Given the description of an element on the screen output the (x, y) to click on. 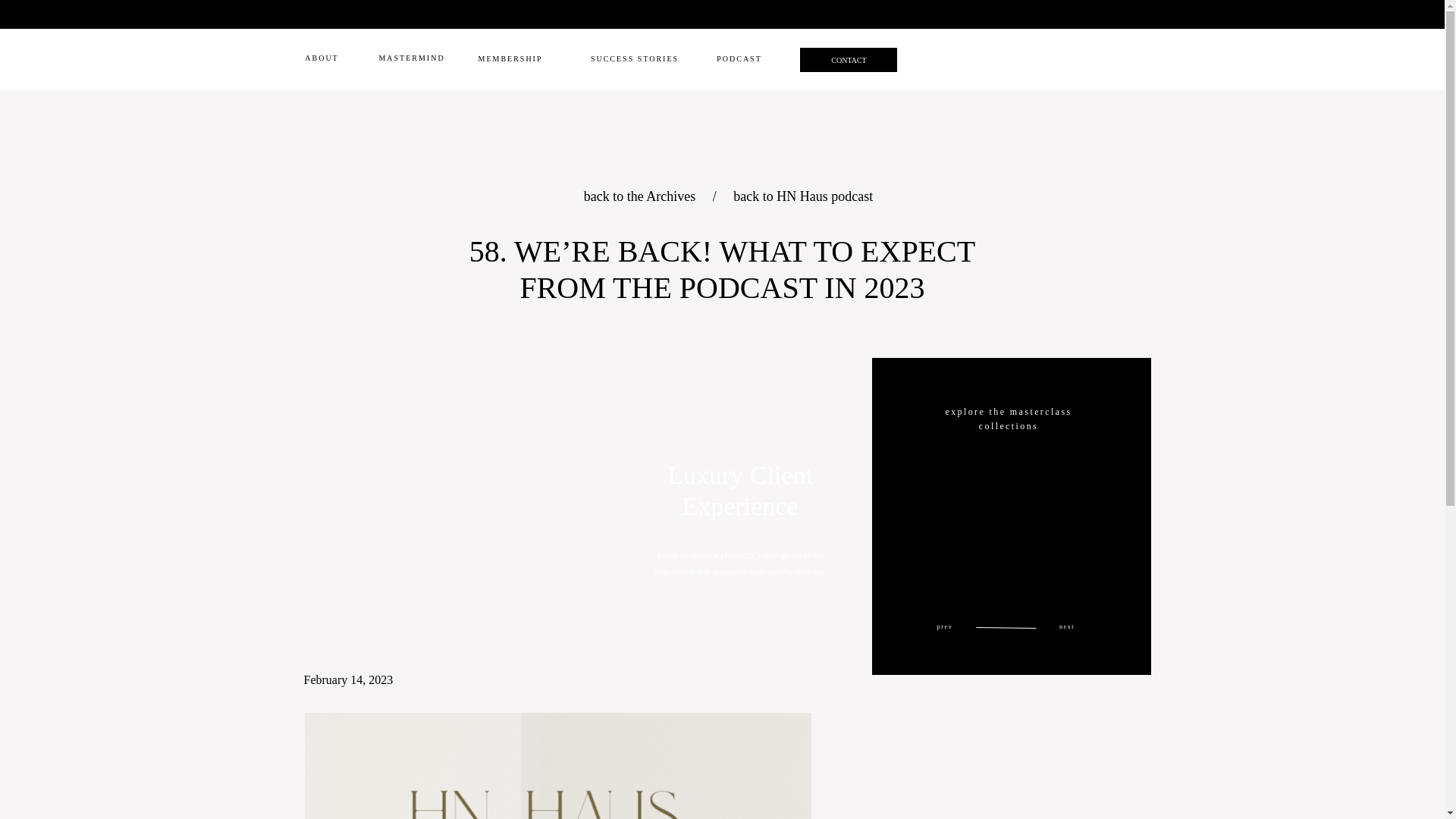
back to HN Haus podcast (802, 196)
prev (944, 627)
SUCCESS STORIES (634, 60)
back to the Archives  (640, 196)
PODCAST (739, 60)
CONTACT (848, 60)
MASTERMIND (411, 59)
Luxury Client Experience (739, 491)
next (1066, 627)
ABOUT (321, 59)
MEMBERSHIP (510, 60)
